Given the description of an element on the screen output the (x, y) to click on. 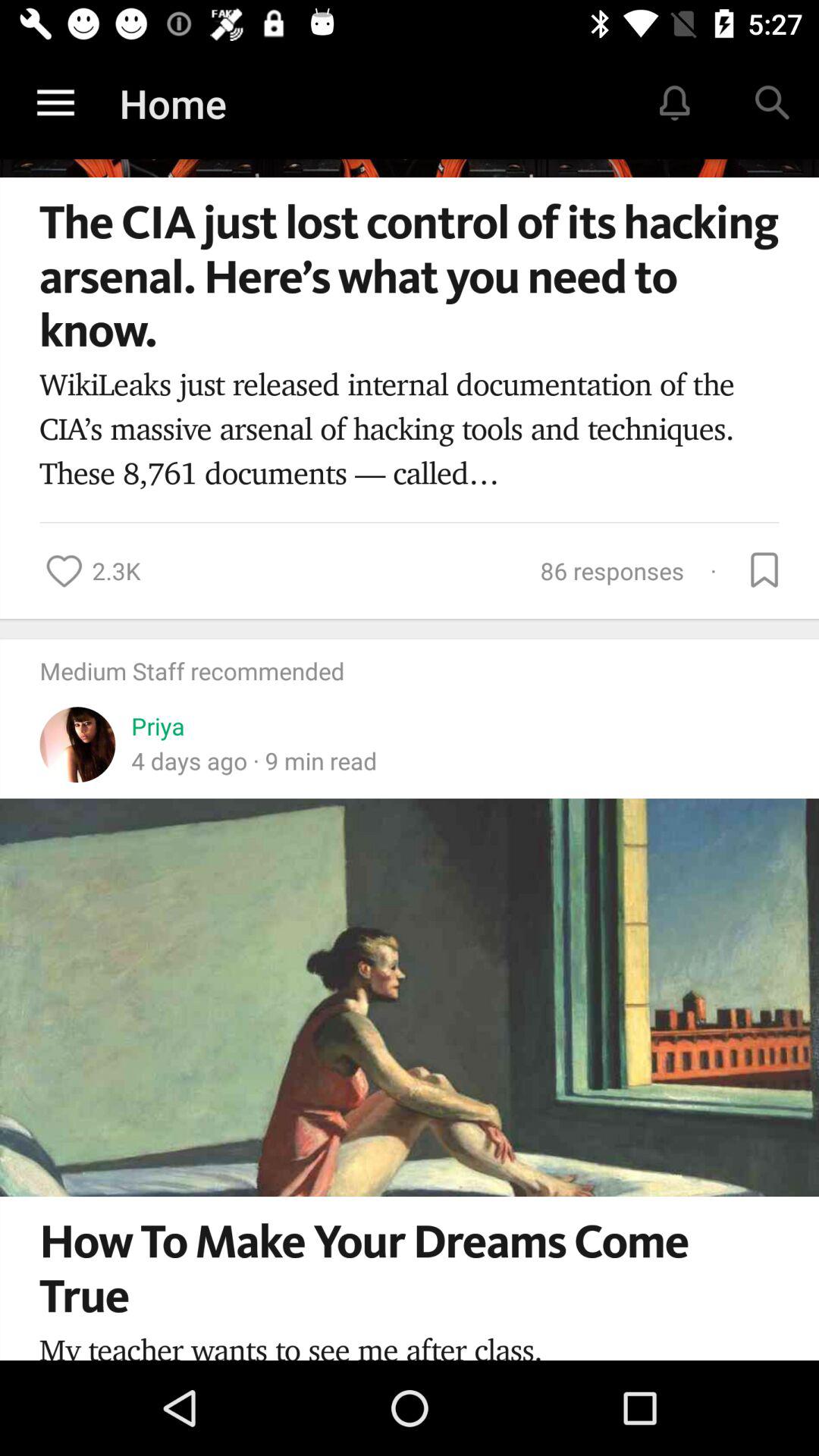
select image beside 23k (63, 571)
